Given the description of an element on the screen output the (x, y) to click on. 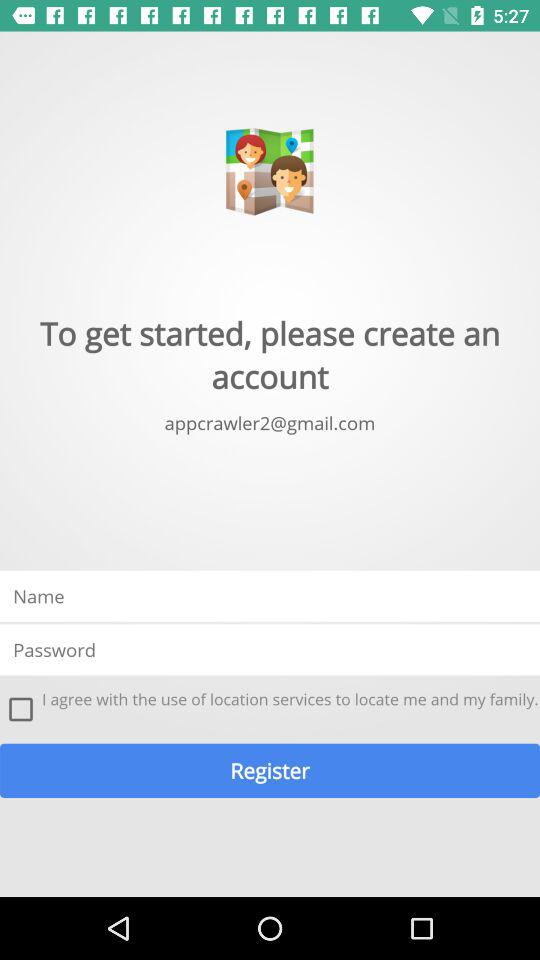
scroll to the register icon (270, 770)
